Given the description of an element on the screen output the (x, y) to click on. 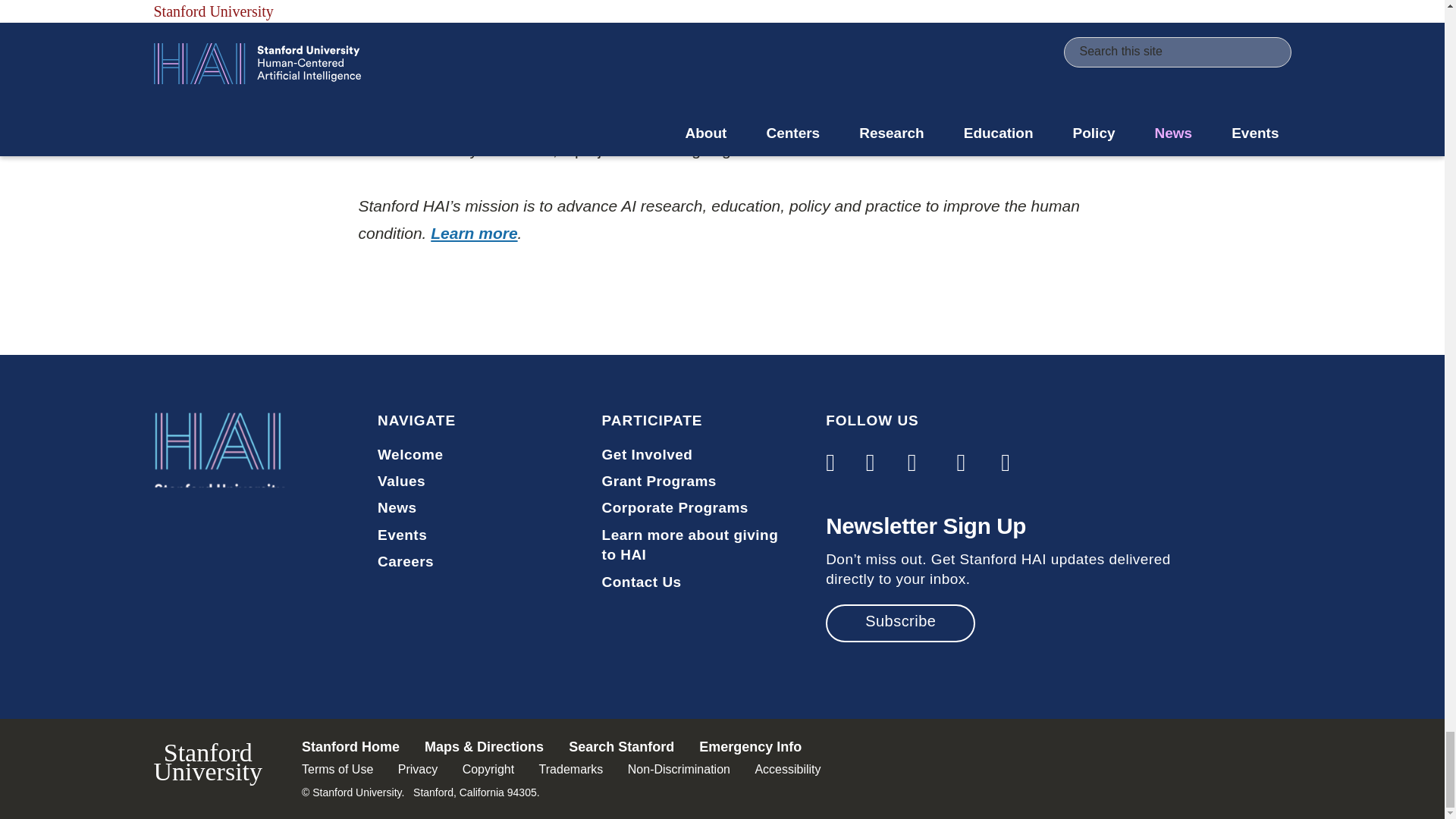
Ownership and use of Stanford trademarks and images (571, 768)
Report alleged copyright infringement (488, 768)
Terms of use for sites (336, 768)
Non-discrimination policy (678, 768)
Report web accessibility issues (787, 768)
Privacy and cookie policy (417, 768)
Common Stanford resources (721, 768)
